Given the description of an element on the screen output the (x, y) to click on. 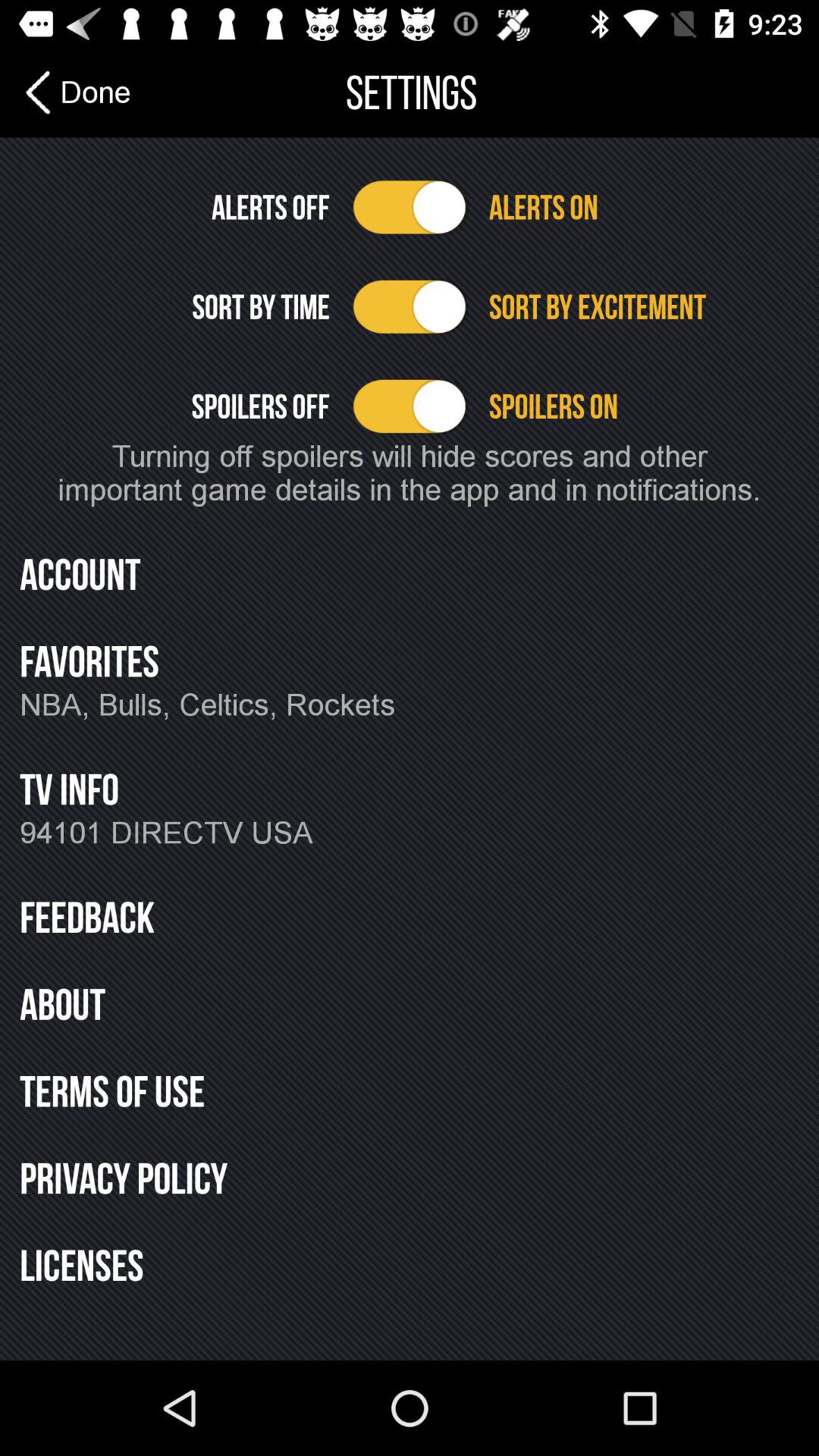
toggle alerts option (409, 207)
